Given the description of an element on the screen output the (x, y) to click on. 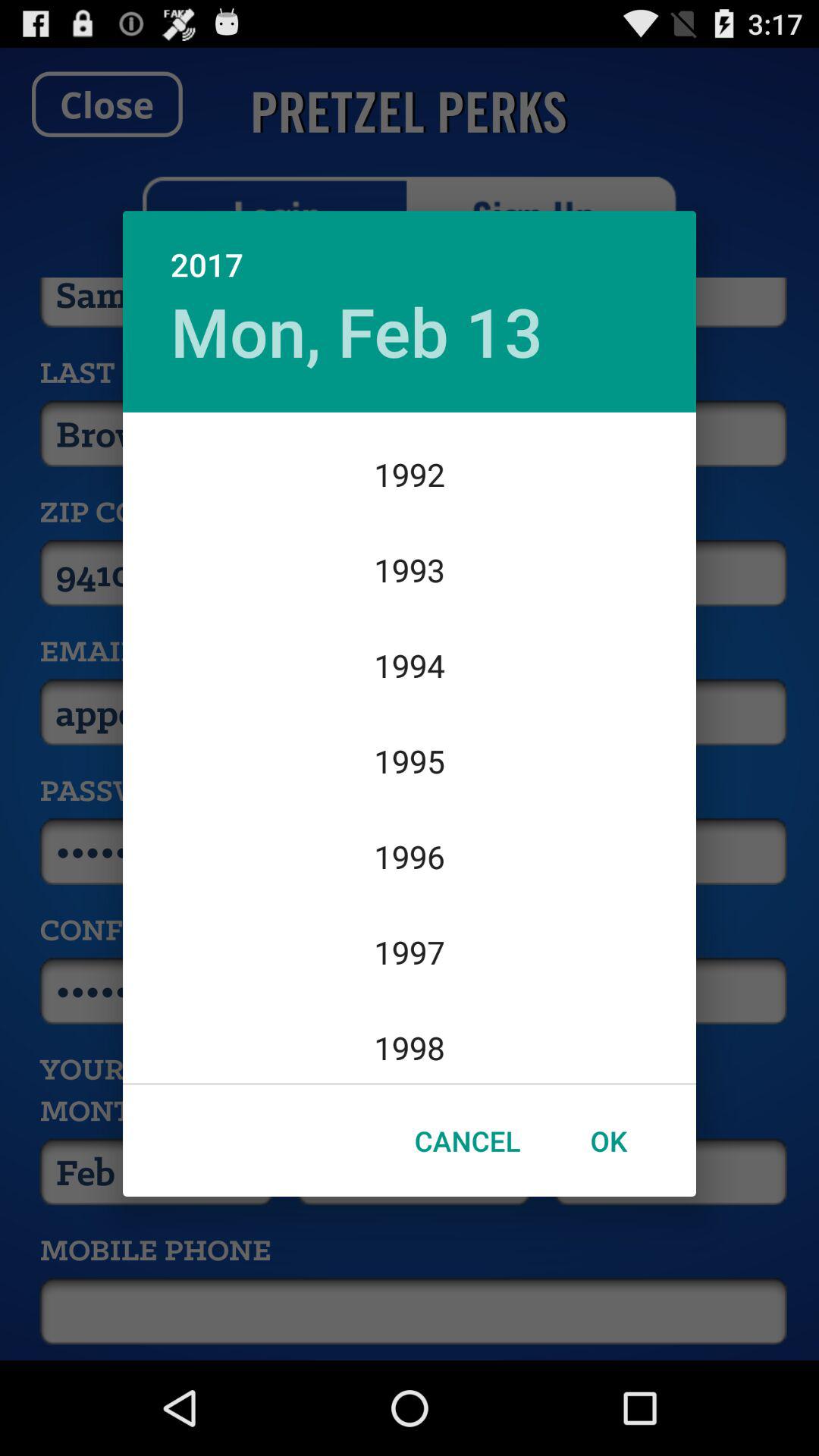
press the item below 1998 icon (608, 1140)
